Given the description of an element on the screen output the (x, y) to click on. 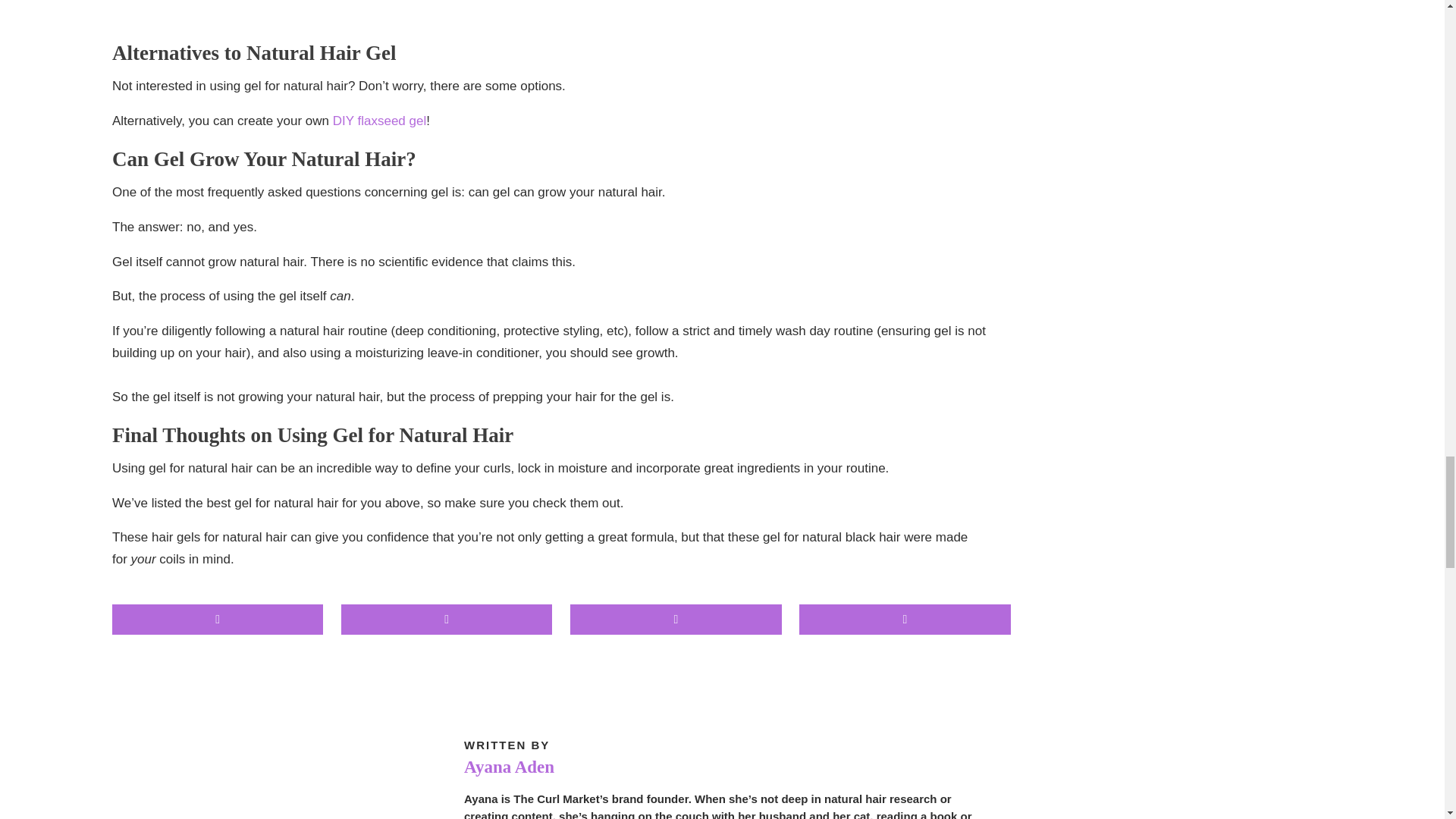
DIY flaxseed gel (379, 120)
